Given the description of an element on the screen output the (x, y) to click on. 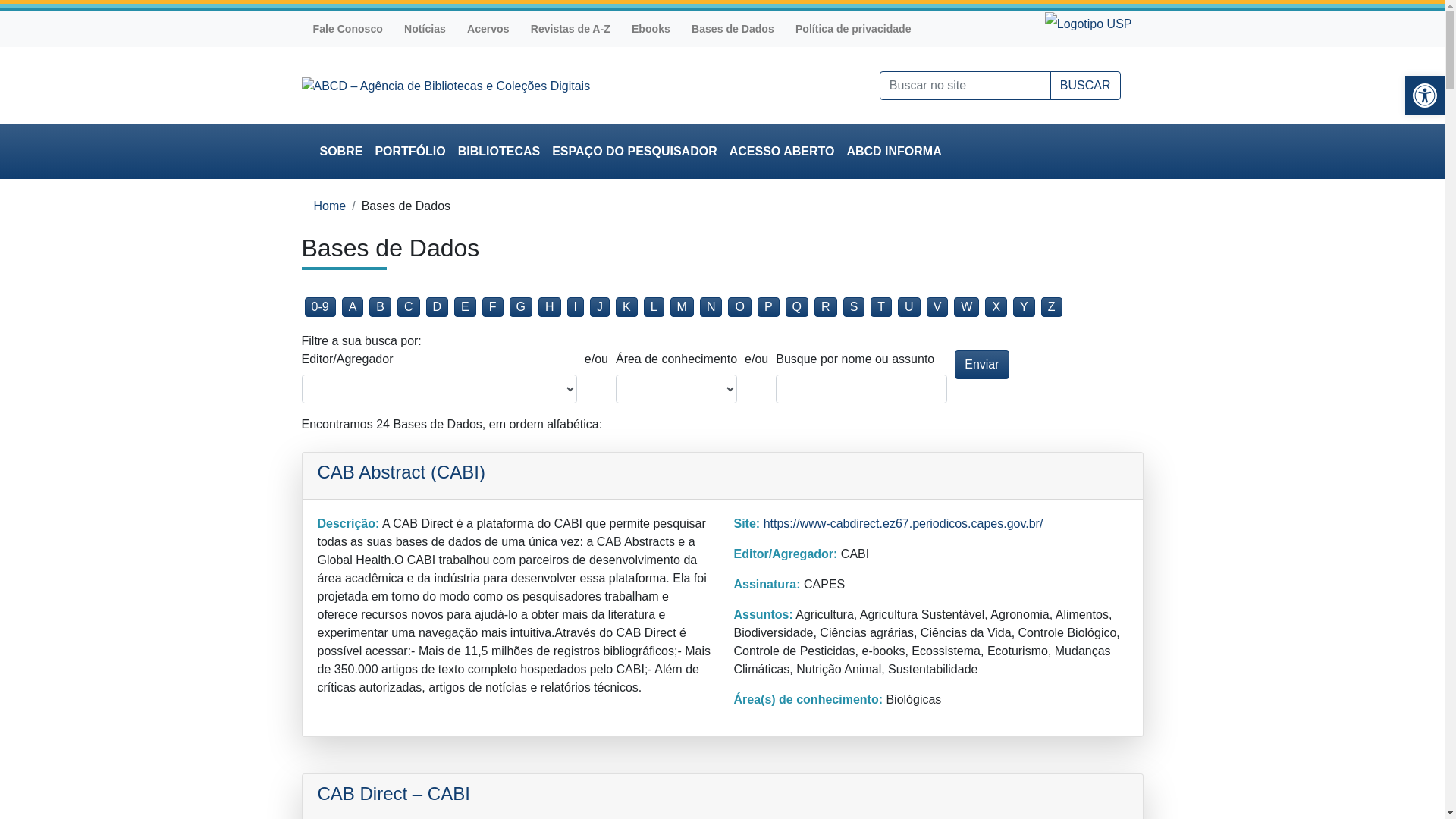
O Element type: text (739, 306)
Y Element type: text (1024, 306)
ACESSO ABERTO Element type: text (781, 151)
0-9 Element type: text (319, 306)
R Element type: text (825, 306)
BIBLIOTECAS Element type: text (498, 151)
P Element type: text (768, 306)
BUSCAR Element type: text (1085, 85)
M Element type: text (681, 306)
B Element type: text (380, 306)
G Element type: text (520, 306)
SOBRE Element type: text (341, 151)
K Element type: text (626, 306)
J Element type: text (599, 306)
A Element type: text (353, 306)
L Element type: text (653, 306)
Revistas de A-Z Element type: text (570, 28)
Home Element type: text (329, 205)
T Element type: text (880, 306)
Ebooks Element type: text (650, 28)
S Element type: text (854, 306)
U Element type: text (908, 306)
Q Element type: text (796, 306)
I Element type: text (575, 306)
V Element type: text (937, 306)
Fale Conosco Element type: text (346, 28)
Acervos Element type: text (488, 28)
C Element type: text (408, 306)
ABCD INFORMA Element type: text (893, 151)
https://www-cabdirect.ez67.periodicos.capes.gov.br/ Element type: text (903, 523)
F Element type: text (492, 306)
Bases de Dados Element type: text (732, 28)
Z Element type: text (1051, 306)
X Element type: text (996, 306)
D Element type: text (437, 306)
E Element type: text (465, 306)
N Element type: text (710, 306)
W Element type: text (966, 306)
Barra de Ferramentas Aberta
Ferramentas de Acessibilidade Element type: text (1424, 95)
Enviar Element type: text (981, 364)
H Element type: text (549, 306)
